Given the description of an element on the screen output the (x, y) to click on. 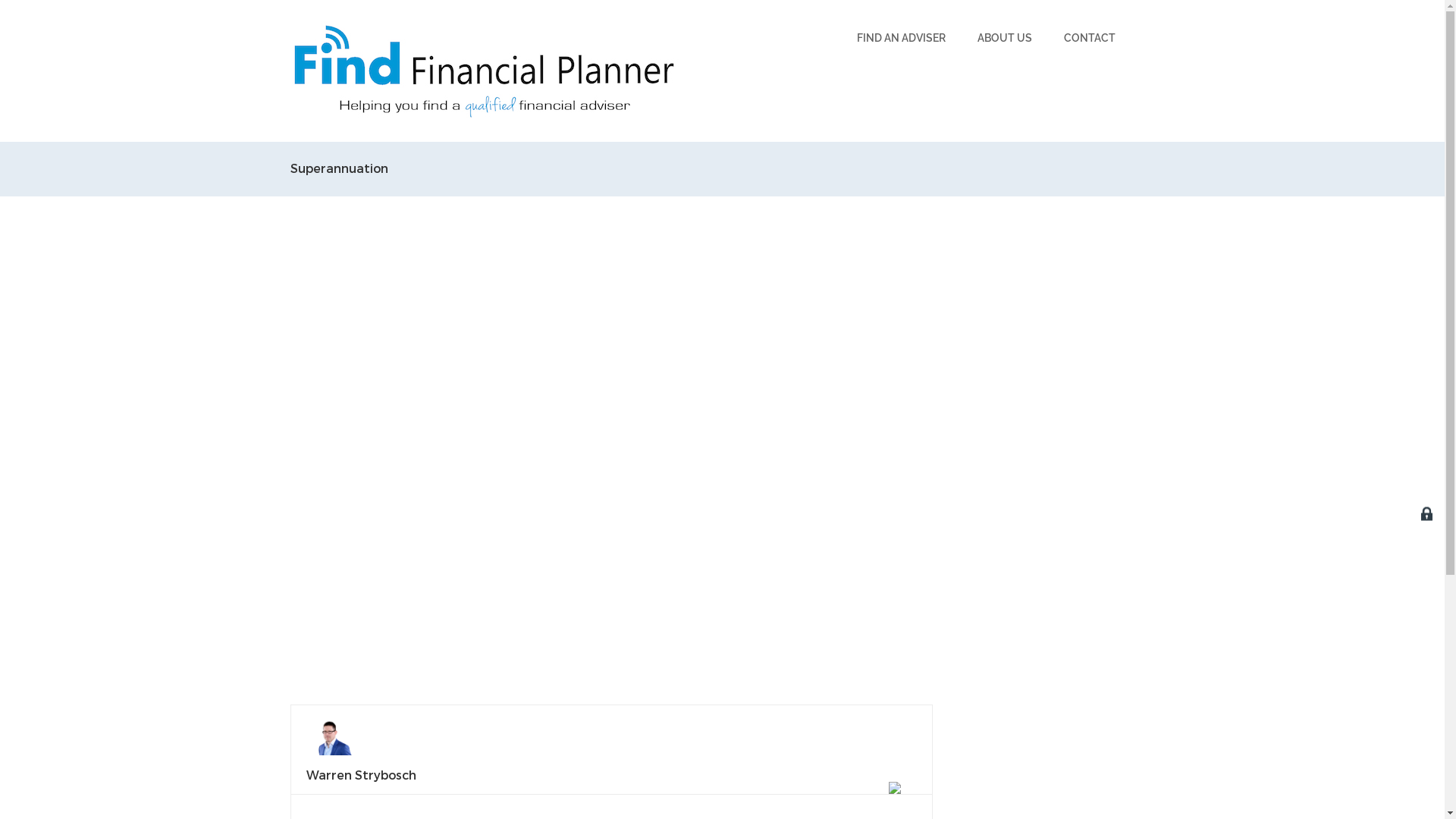
CONTACT Element type: text (1088, 37)
Warren Strybosch Element type: text (361, 775)
FIND AN ADVISER Element type: text (900, 37)
ABOUT US Element type: text (1003, 37)
